Given the description of an element on the screen output the (x, y) to click on. 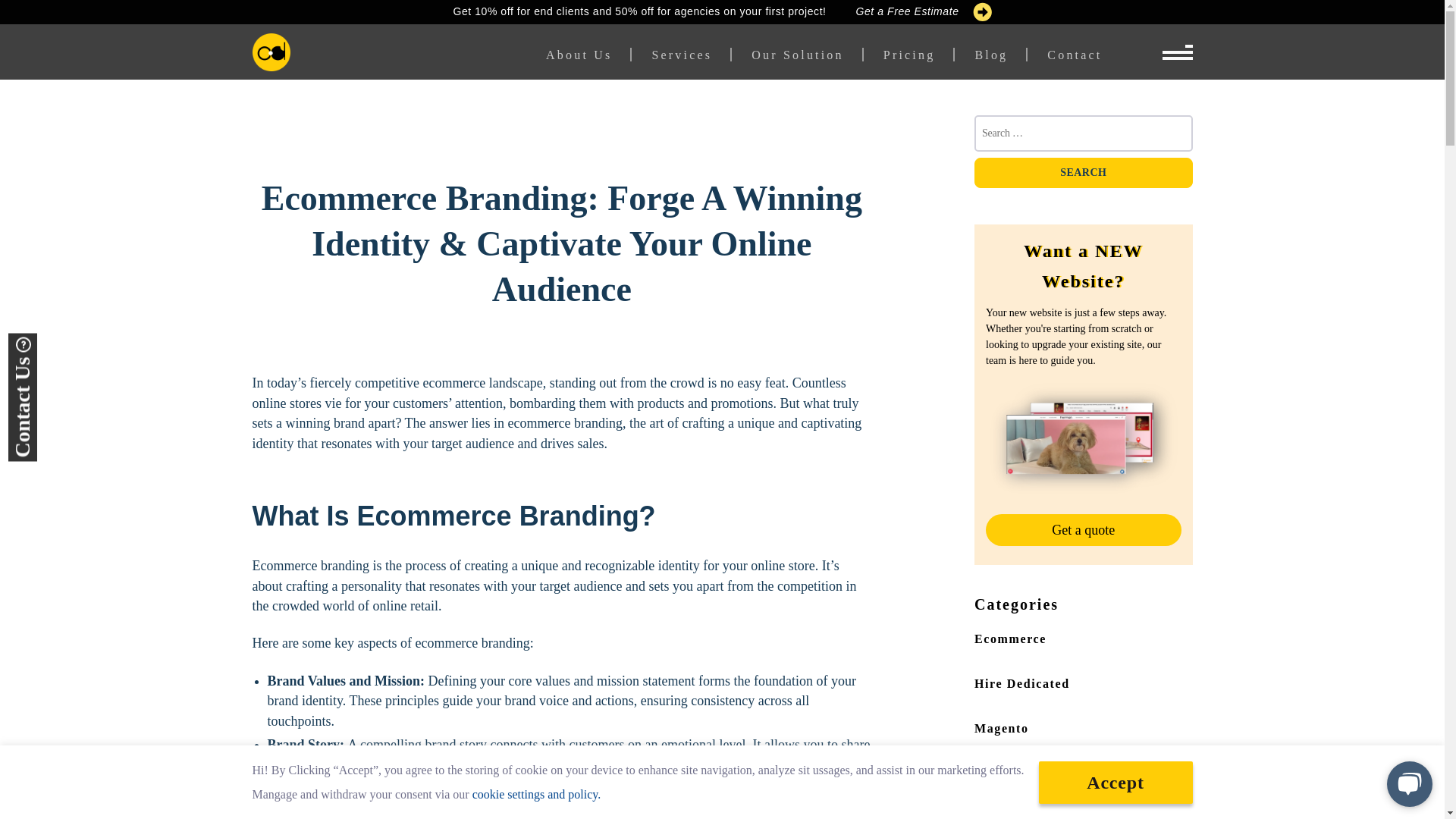
Search (1083, 173)
Blog (991, 54)
Contact Us (69, 351)
cookie settings and policy. (536, 793)
Services (681, 54)
Contact (1064, 54)
Accept (1115, 782)
Search (1083, 173)
About Us (588, 54)
Pricing (909, 54)
Our Solution (797, 54)
Get a Free Estimate (923, 12)
